Given the description of an element on the screen output the (x, y) to click on. 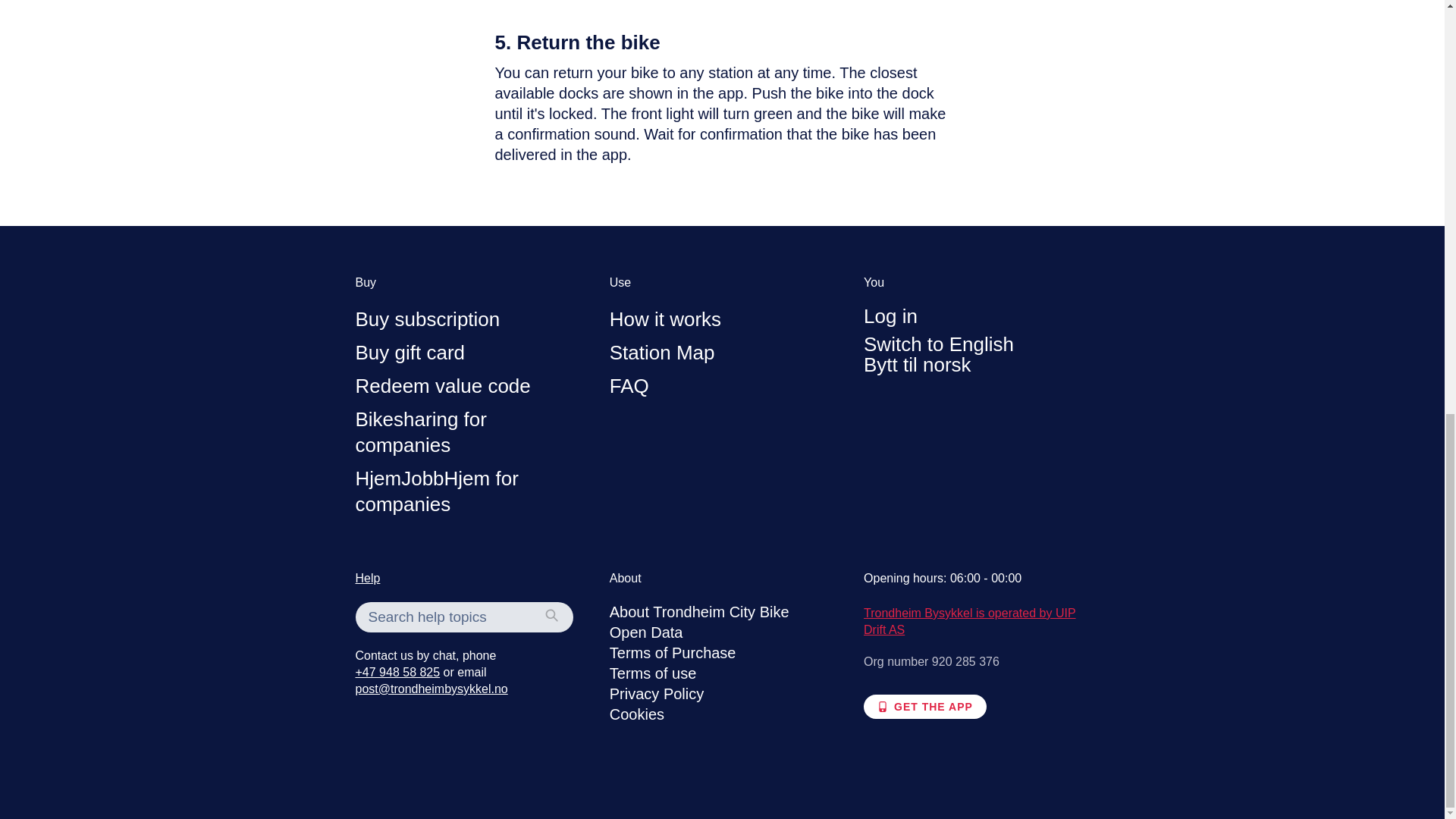
Bikesharing for companies (420, 431)
Trondheim Bysykkel is operated by UIP Drift AS (969, 621)
Switch to English (938, 343)
Station Map (662, 352)
Bytt til norsk (917, 363)
Log in (890, 315)
Help (367, 577)
Open Data (646, 632)
Redeem value code (442, 385)
FAQ (629, 385)
GET THE APP (925, 706)
How it works (665, 318)
Cookies (636, 713)
Buy gift card (409, 352)
Terms of use (652, 673)
